Given the description of an element on the screen output the (x, y) to click on. 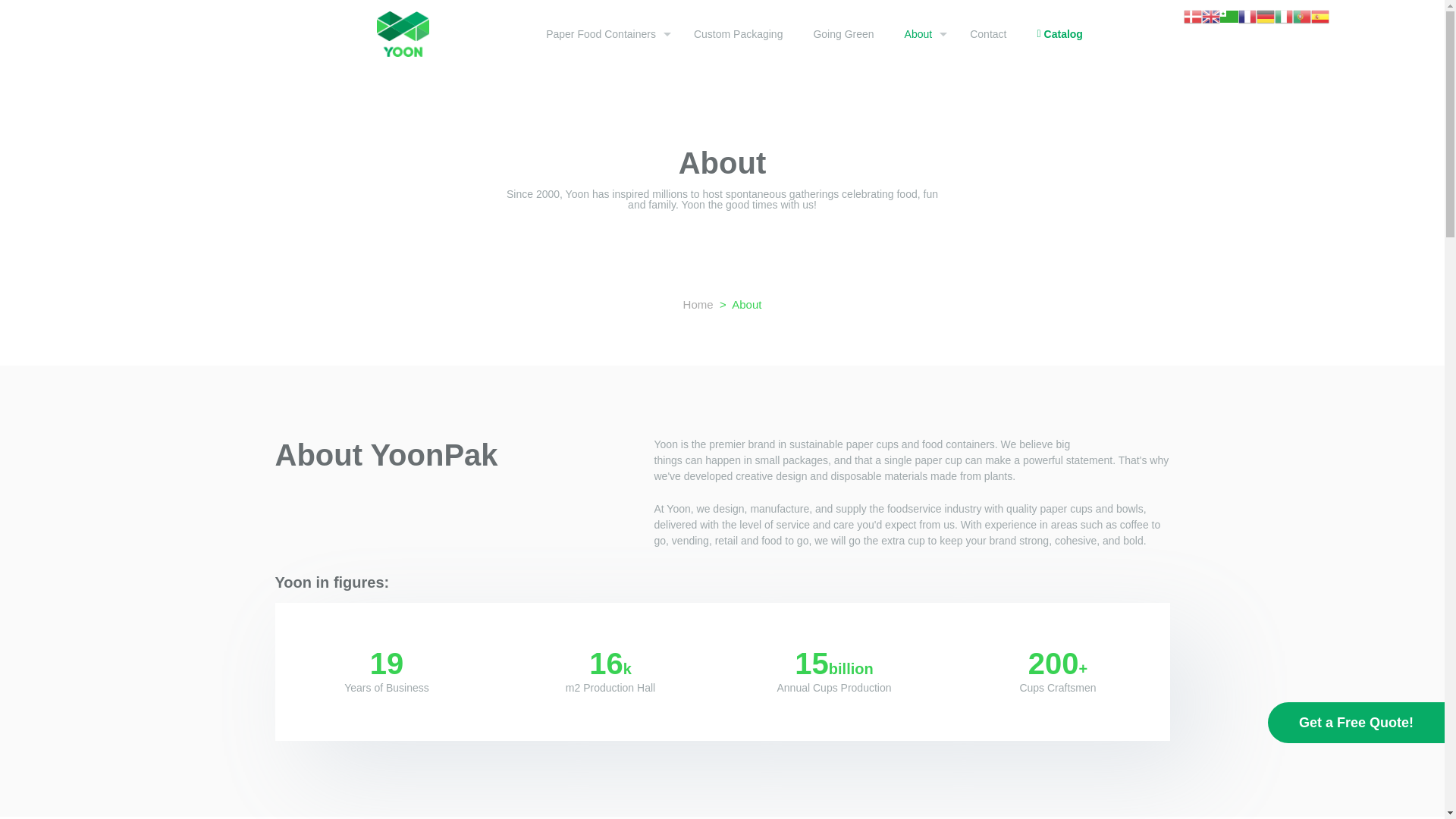
Italiano (1283, 15)
English (1211, 15)
Paper Food Containers (604, 33)
About (922, 33)
Going Green (842, 33)
Home   (700, 304)
Esperanto (1229, 15)
Custom Packaging (737, 33)
Contact (988, 33)
Dansk (1192, 15)
